Given the description of an element on the screen output the (x, y) to click on. 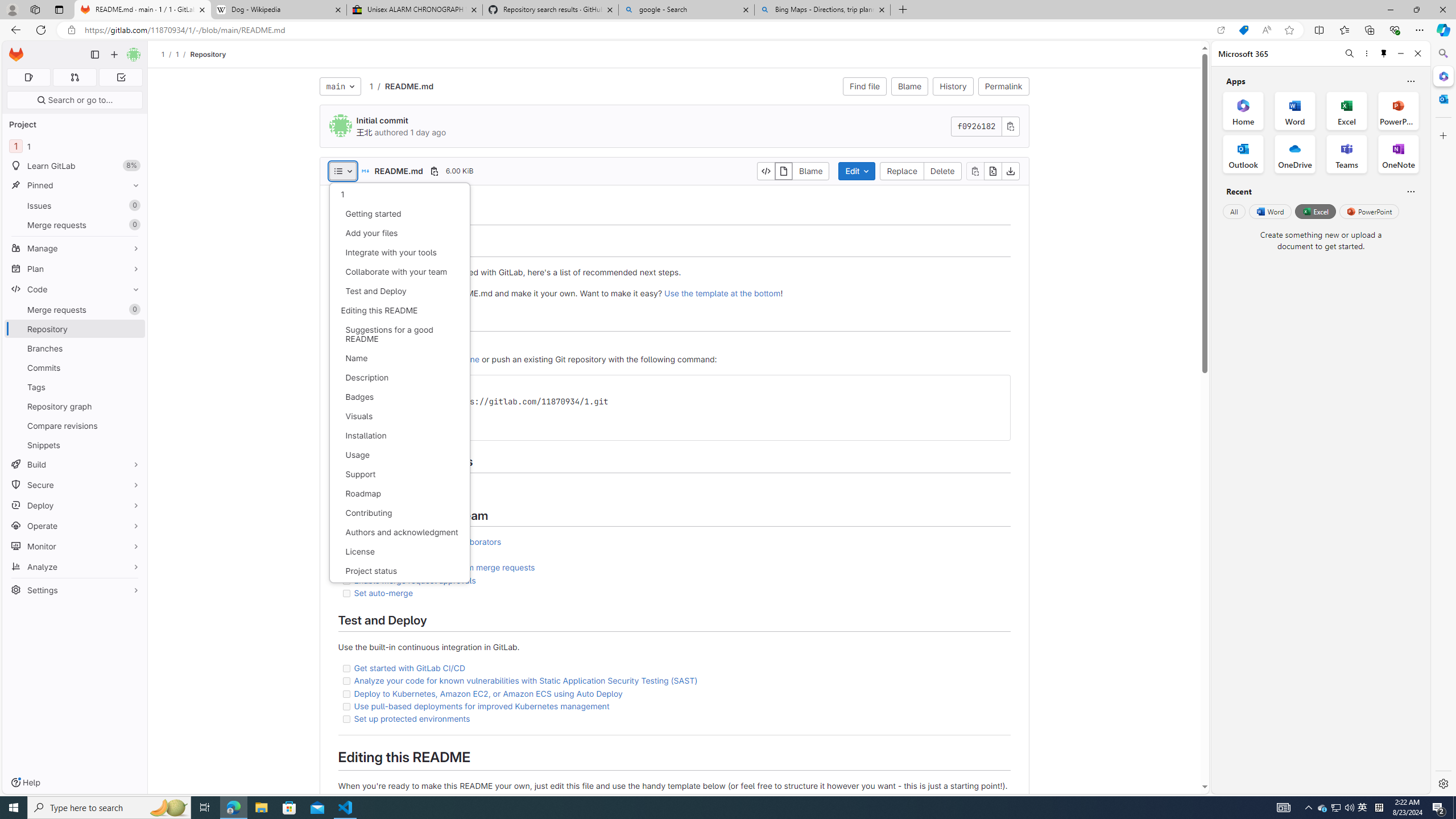
Set auto-merge (383, 592)
Visuals (399, 416)
History (953, 85)
Pin Tags (132, 386)
Badges (399, 397)
Deploy (74, 505)
Learn GitLab8% (74, 165)
Branches (74, 348)
OneNote Office App (1398, 154)
Create or upload files (673, 346)
Getting started (399, 213)
Analyze (74, 566)
Operate (74, 525)
All (1233, 210)
